Given the description of an element on the screen output the (x, y) to click on. 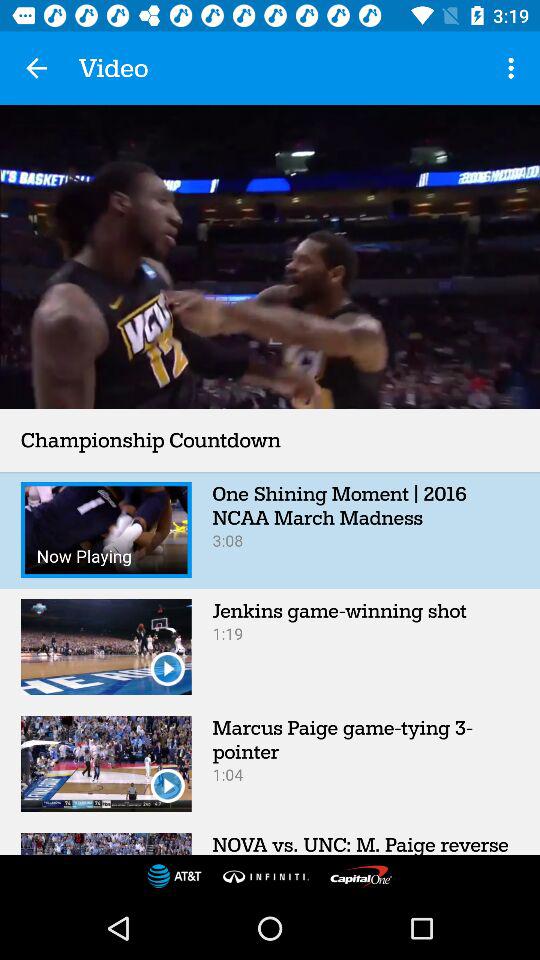
choose icon at the top right corner (513, 67)
